Given the description of an element on the screen output the (x, y) to click on. 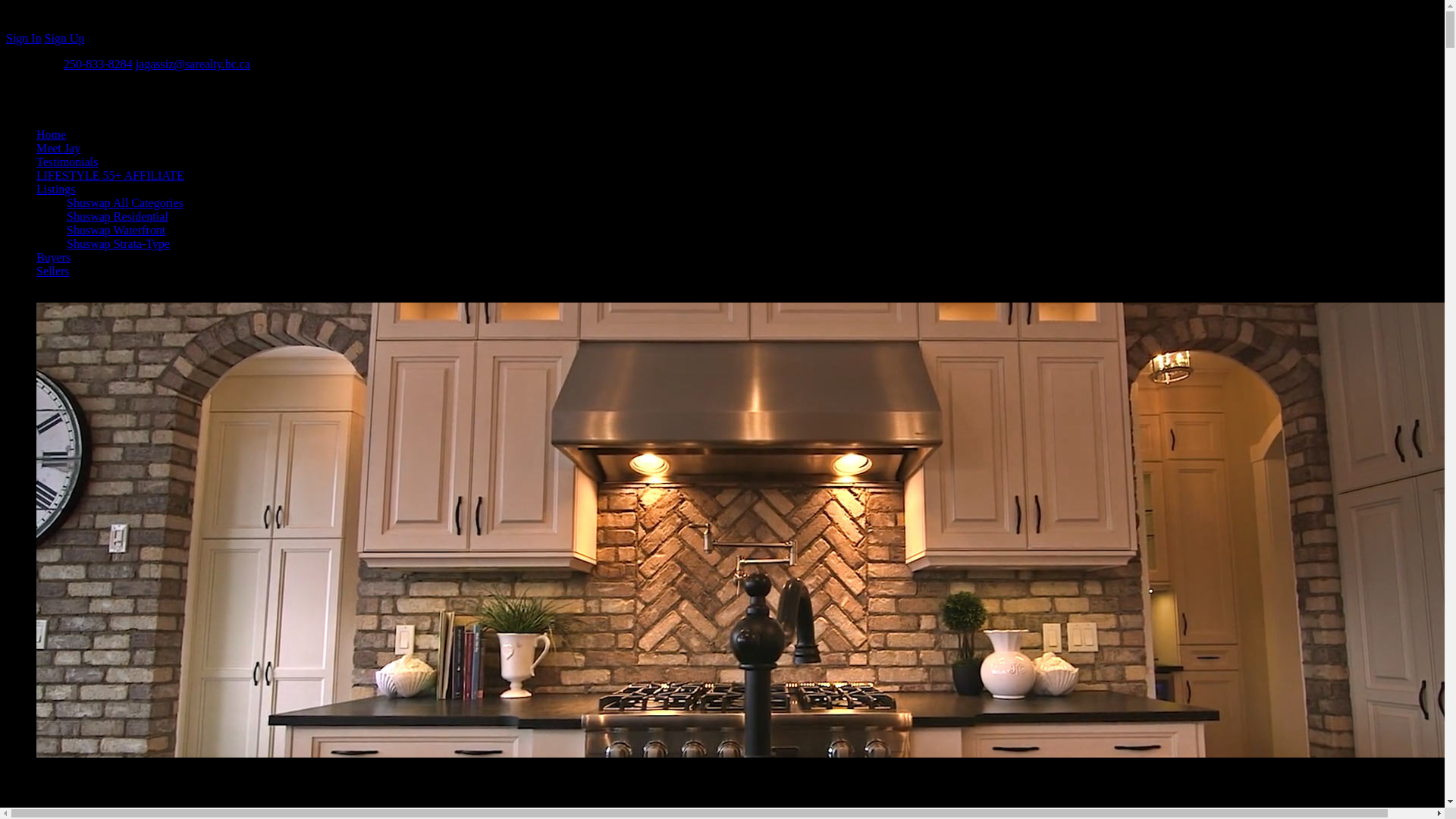
Testimonials (67, 161)
Shuswap Strata-Type (118, 243)
Buyers (52, 256)
Shuswap Waterfront (115, 229)
Sellers (52, 270)
Listings (55, 188)
Sign In (23, 38)
Sign Up (64, 38)
Shuswap Residential (117, 215)
Home (50, 133)
Meet Jay (58, 147)
250-833-8284 (98, 63)
Shuswap All Categories (124, 202)
